Given the description of an element on the screen output the (x, y) to click on. 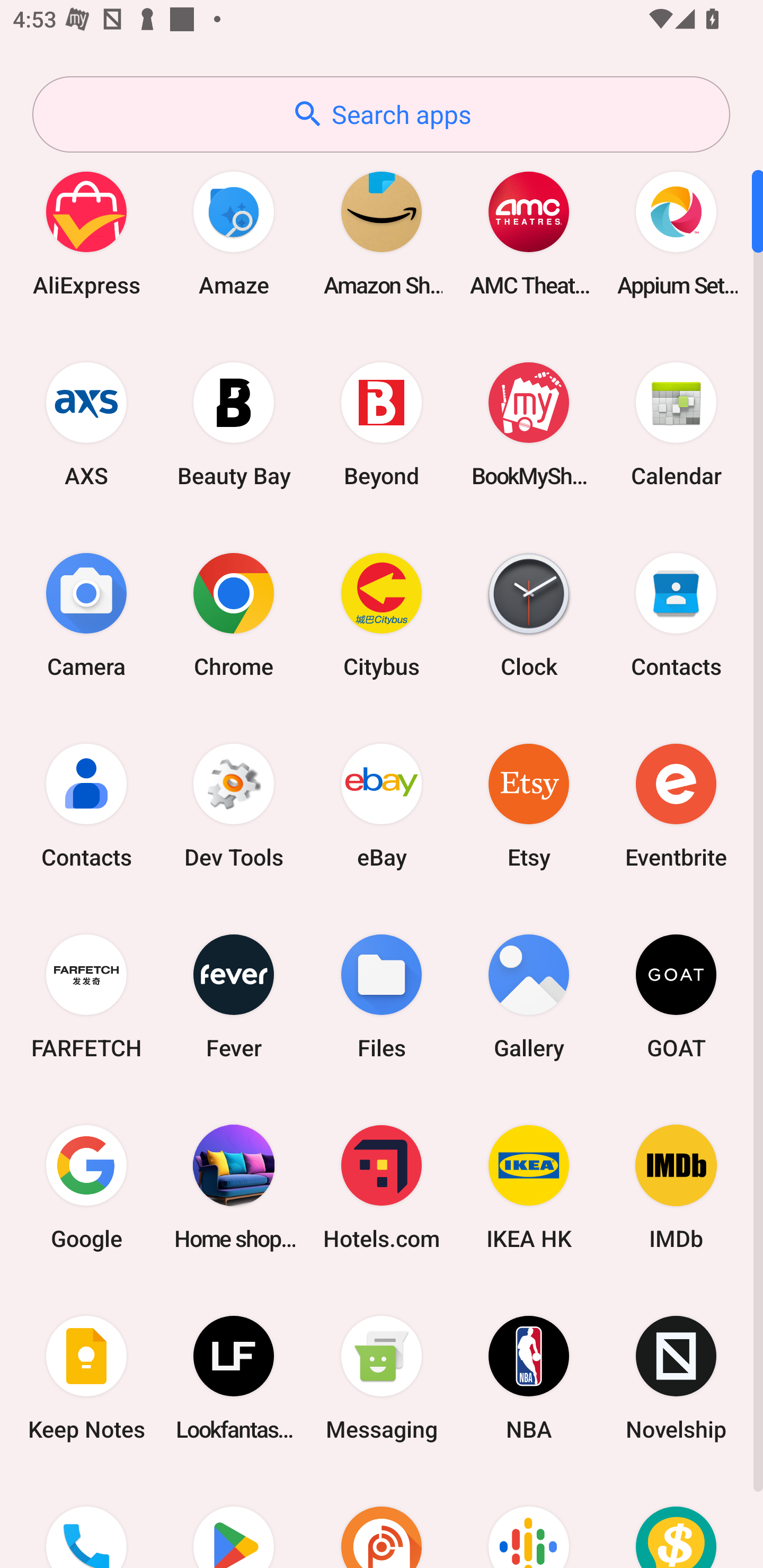
  Search apps (381, 114)
AliExpress (86, 233)
Amaze (233, 233)
Amazon Shopping (381, 233)
AMC Theatres (528, 233)
Appium Settings (676, 233)
AXS (86, 424)
Beauty Bay (233, 424)
Beyond (381, 424)
BookMyShow (528, 424)
Calendar (676, 424)
Camera (86, 614)
Chrome (233, 614)
Citybus (381, 614)
Clock (528, 614)
Contacts (676, 614)
Contacts (86, 805)
Dev Tools (233, 805)
eBay (381, 805)
Etsy (528, 805)
Eventbrite (676, 805)
FARFETCH (86, 996)
Fever (233, 996)
Files (381, 996)
Gallery (528, 996)
GOAT (676, 996)
Google (86, 1186)
Home shopping (233, 1186)
Hotels.com (381, 1186)
IKEA HK (528, 1186)
IMDb (676, 1186)
Keep Notes (86, 1377)
Lookfantastic (233, 1377)
Messaging (381, 1377)
NBA (528, 1377)
Novelship (676, 1377)
Phone (86, 1520)
Play Store (233, 1520)
Podcast Addict (381, 1520)
Podcasts (528, 1520)
Price (676, 1520)
